Given the description of an element on the screen output the (x, y) to click on. 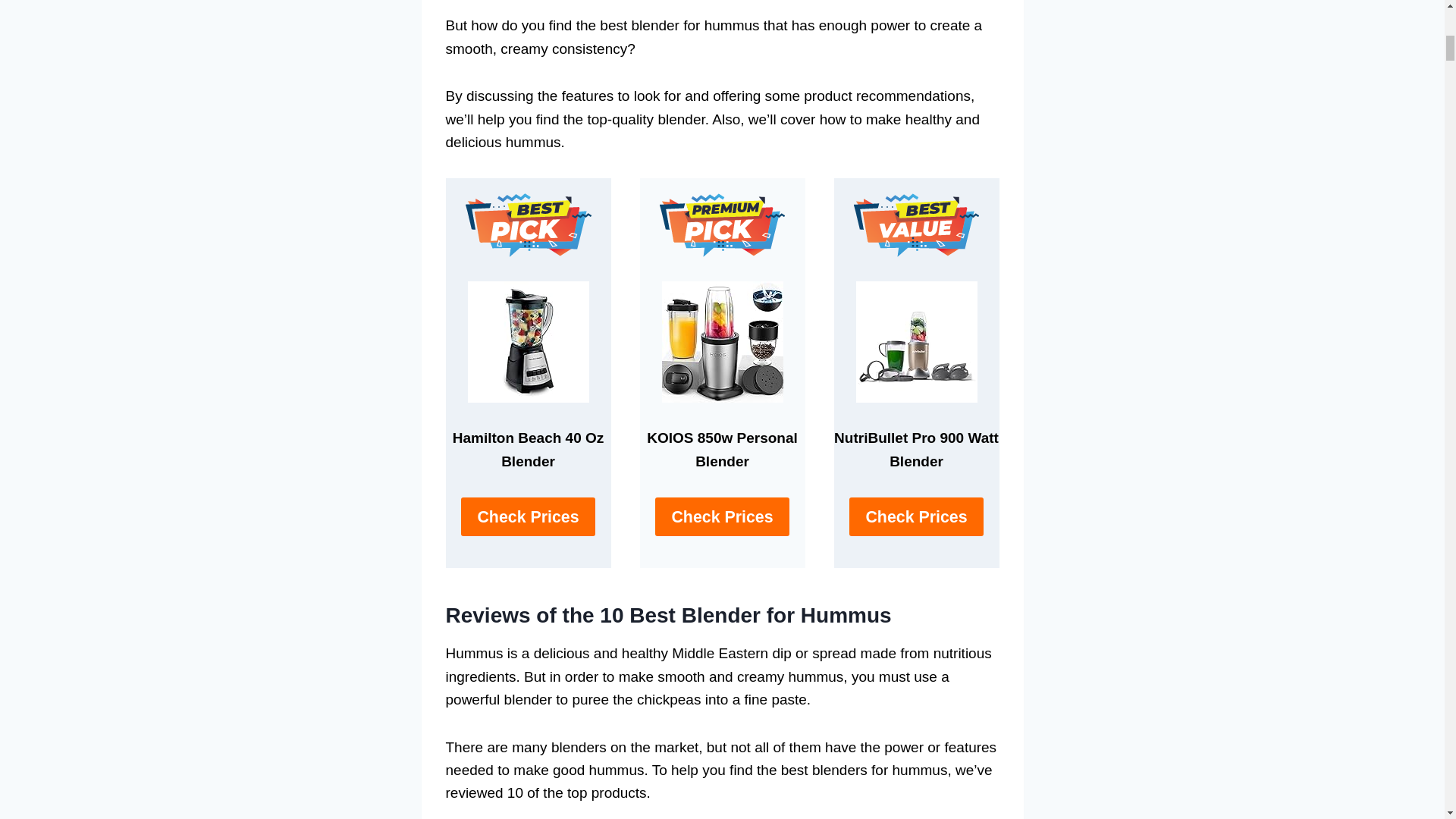
Check Prices (528, 516)
Check Prices (722, 516)
Check Prices (916, 516)
